Given the description of an element on the screen output the (x, y) to click on. 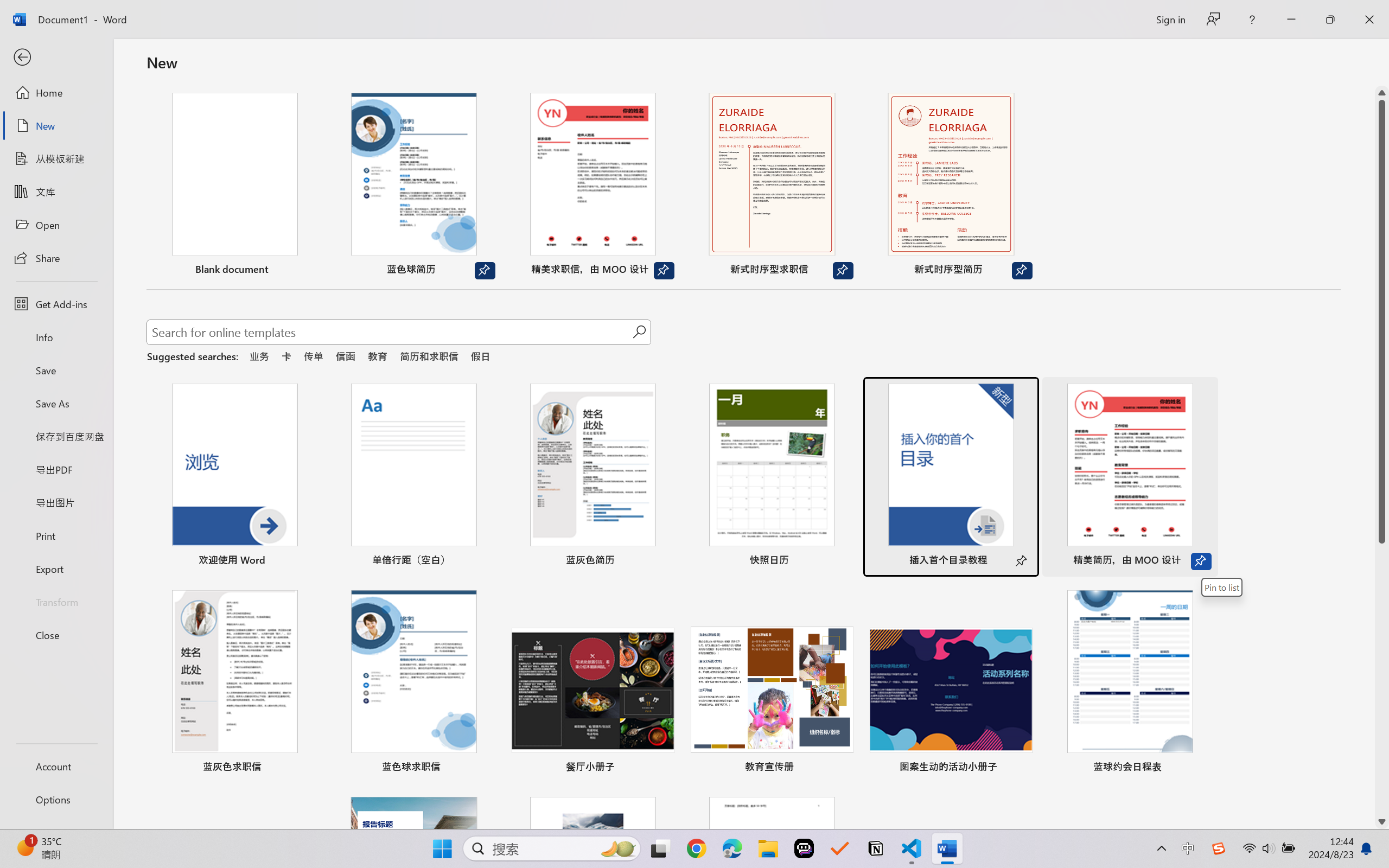
Get Add-ins (56, 303)
Pin to list (1200, 767)
Save As (56, 403)
